Given the description of an element on the screen output the (x, y) to click on. 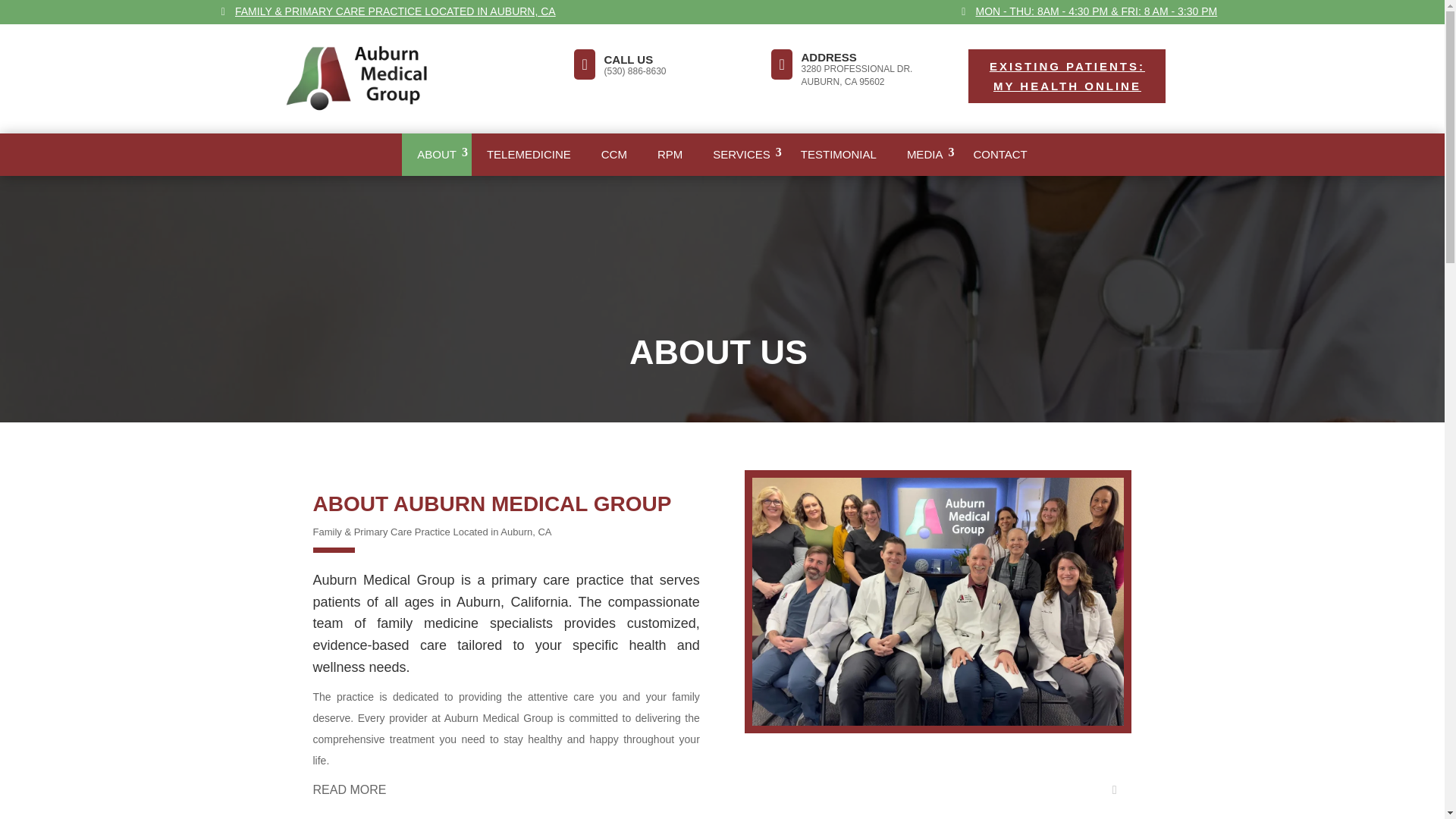
EXISTING PATIENTS: MY HEALTH ONLINE (1067, 76)
SERVICES (741, 154)
CCM (614, 154)
Auburn Medical Group Logo (373, 77)
TESTIMONIAL (838, 154)
ABOUT (436, 154)
About 2 (938, 721)
RPM (669, 154)
MEDIA (924, 154)
TELEMEDICINE (528, 154)
